Given the description of an element on the screen output the (x, y) to click on. 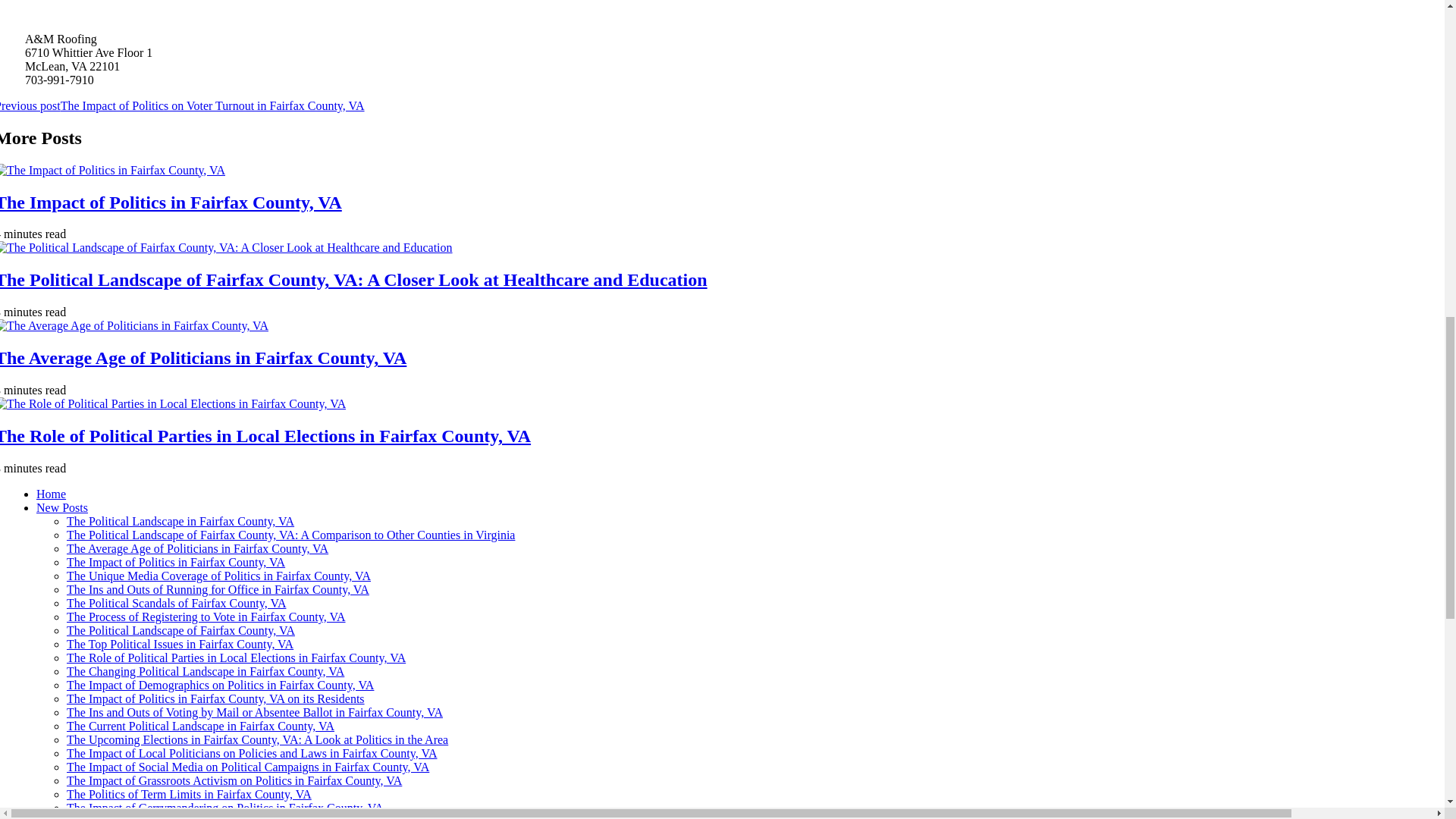
The Process of Registering to Vote in Fairfax County, VA (206, 616)
The Impact of Demographics on Politics in Fairfax County, VA (220, 684)
The Average Age of Politicians in Fairfax County, VA (203, 357)
The Ins and Outs of Running for Office in Fairfax County, VA (217, 589)
Home (50, 493)
The Impact of Politics in Fairfax County, VA (175, 562)
The Political Landscape in Fairfax County, VA (180, 521)
New Posts (61, 507)
